Given the description of an element on the screen output the (x, y) to click on. 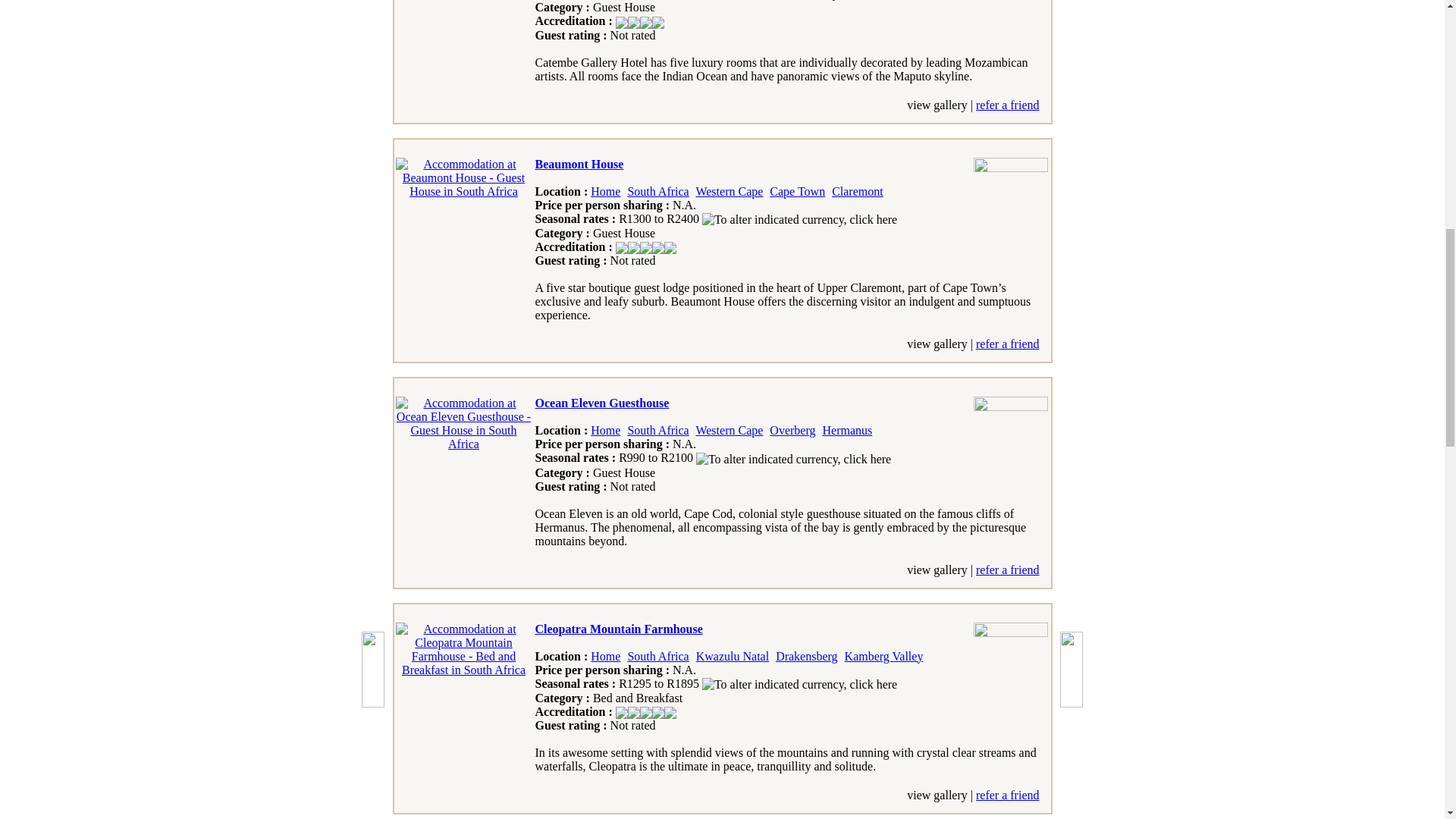
South Africa accommodation (657, 430)
Western Cape accommodation (728, 430)
South Africa accommodation (657, 191)
Cape Town accommodation (797, 191)
Western Cape accommodation (728, 191)
Live Booking for Beaumont House Accommodation (705, 352)
Live Booking for Catembe Gallery Hotel Accommodation (705, 113)
Claremont accommodation (857, 191)
